Given the description of an element on the screen output the (x, y) to click on. 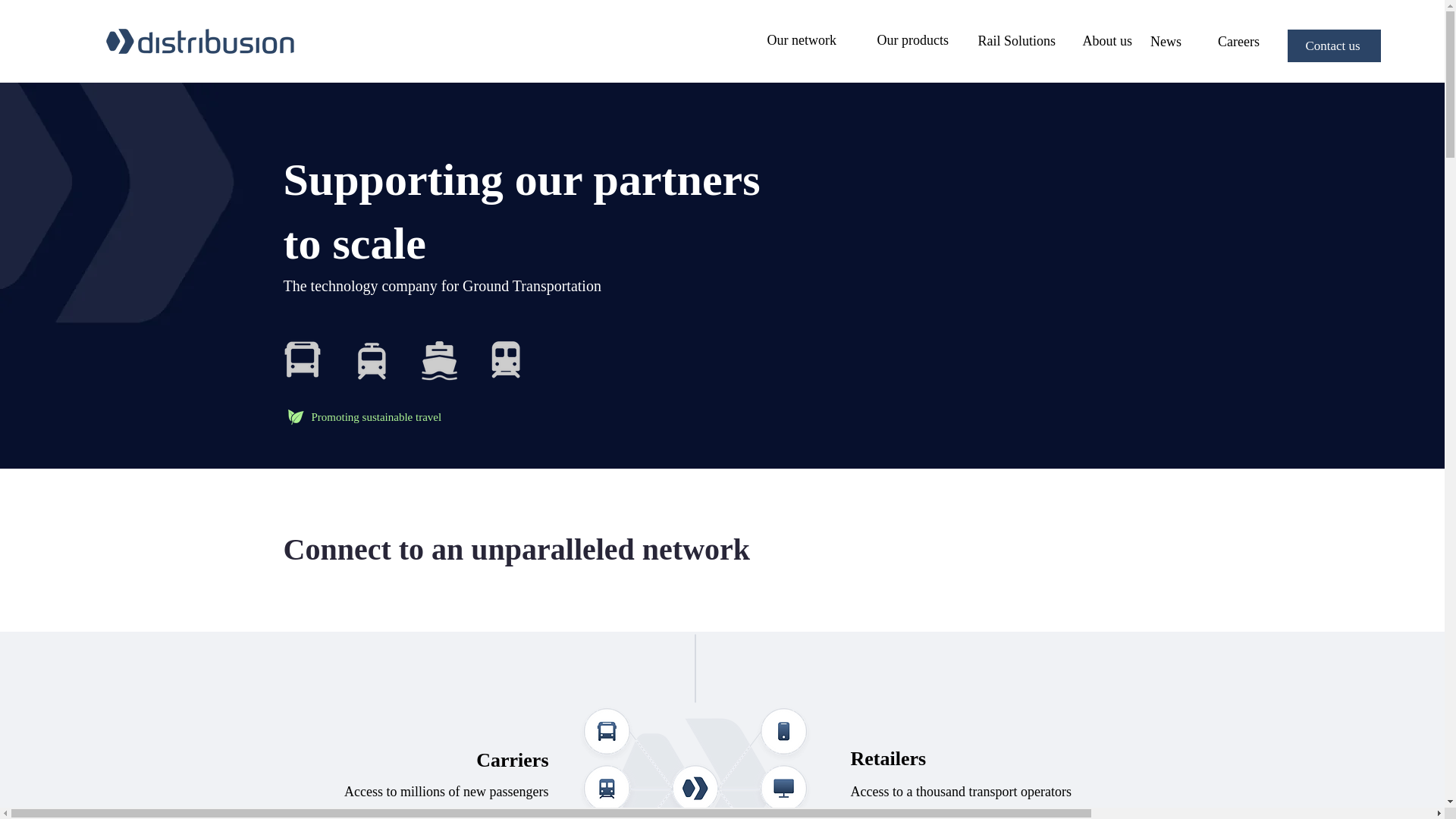
Group 102.png (301, 359)
Rail Solutions (1015, 40)
Group 104.png (437, 359)
News (1165, 41)
Contact us (1333, 45)
Group 105.png (370, 359)
Group 103.png (505, 359)
About us (1106, 40)
Our network (801, 39)
Our products (913, 39)
connections.png (694, 760)
Careers (1238, 41)
